Given the description of an element on the screen output the (x, y) to click on. 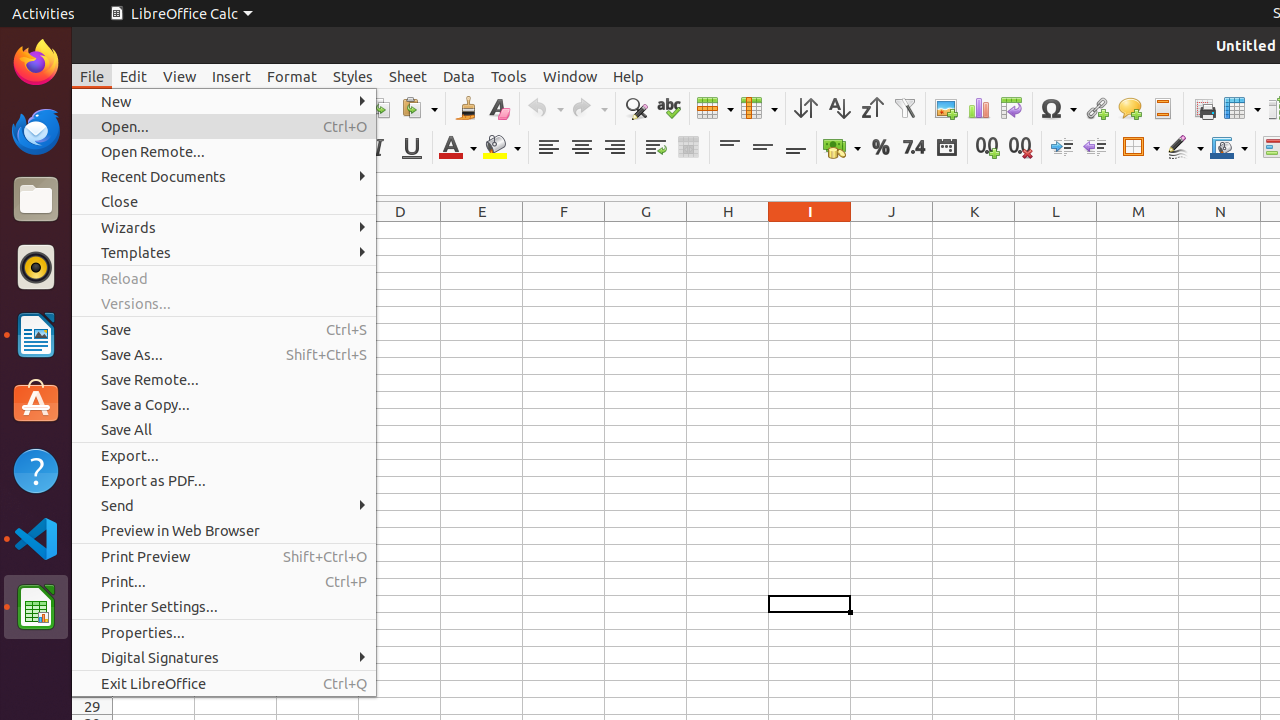
Align Left Element type: push-button (548, 147)
Increase Element type: push-button (1061, 147)
Close Element type: menu-item (224, 201)
Send Element type: menu (224, 505)
LibreOffice Calc Element type: menu (181, 13)
